Given the description of an element on the screen output the (x, y) to click on. 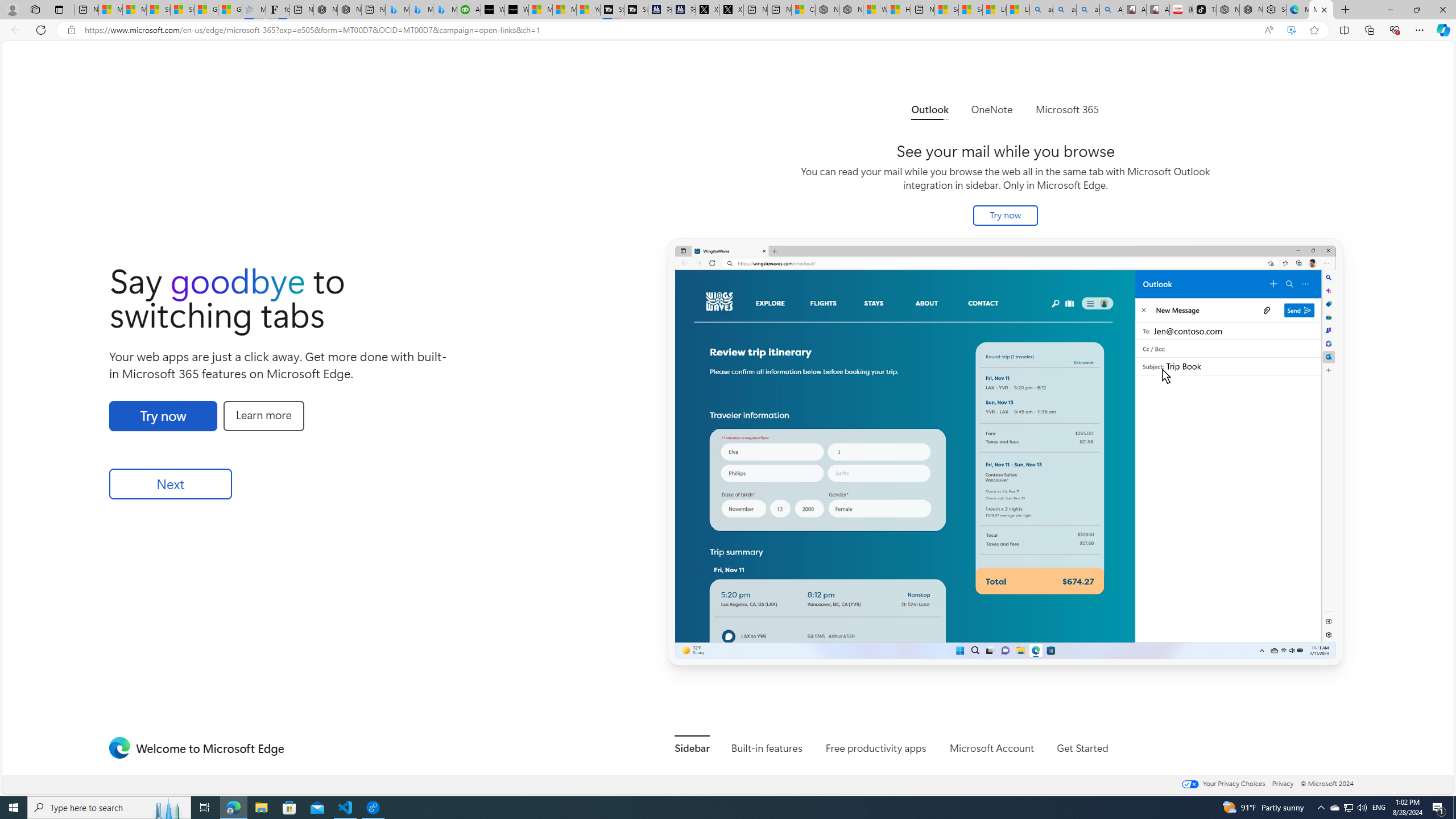
Nordace Siena Pro 15 Backpack (1251, 9)
Enhance video (1291, 29)
